Given the description of an element on the screen output the (x, y) to click on. 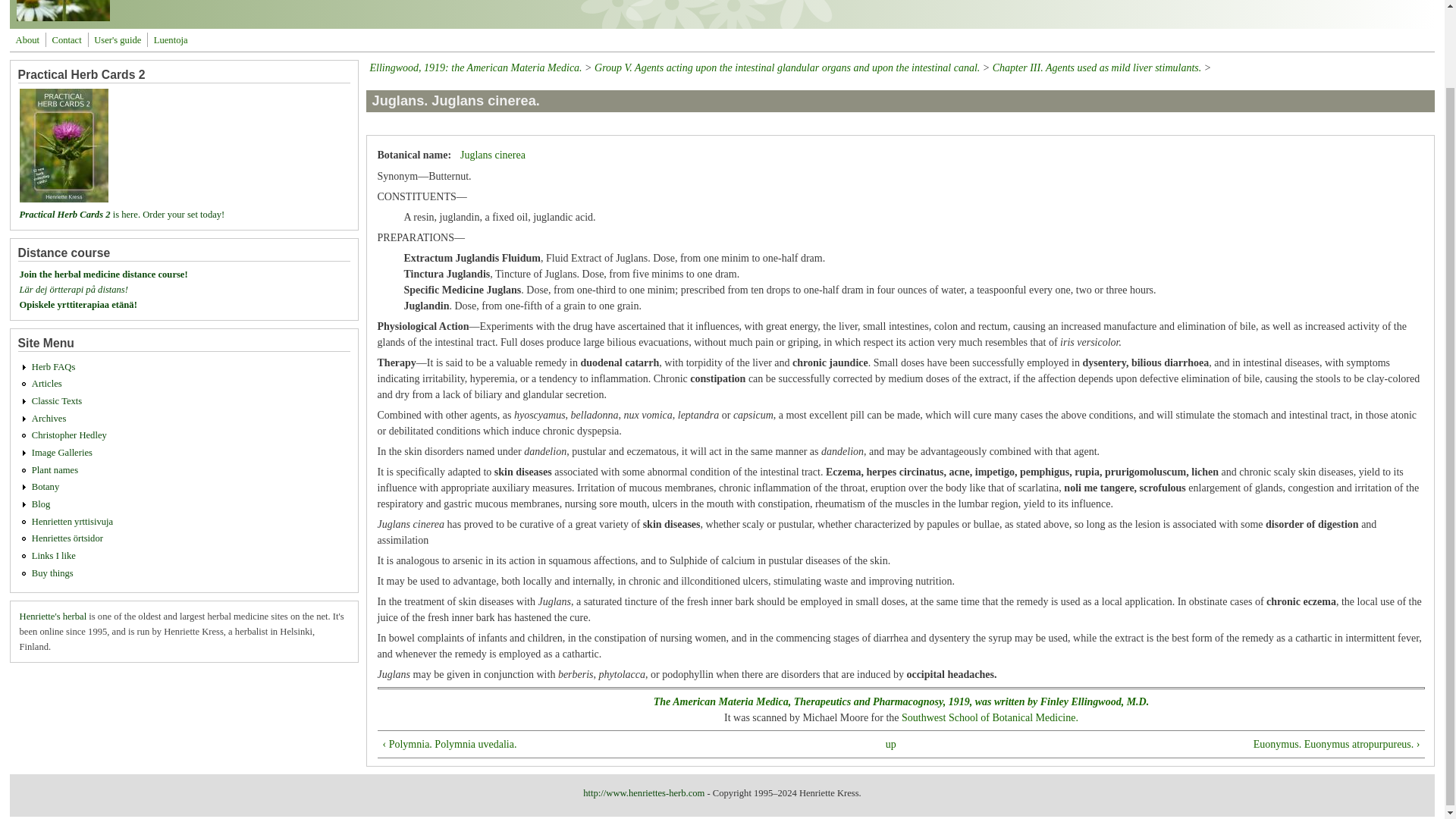
Suomenkielinen osa Henrietten yrttisivustosta. (72, 521)
Juglans cinerea (492, 154)
Remembering Christopher. (69, 434)
Botanical keys with photos by Jan De Langhe. (45, 486)
Go to parent page (890, 744)
Links I like (53, 555)
About (27, 39)
Chapter III. Agents used as mild liver stimulants. (1096, 67)
Image Galleries (62, 452)
Henriette's herbal (53, 615)
The culinary and medicinal herb FAQs. (53, 366)
Plant names (55, 470)
Archives (48, 418)
Botany (45, 486)
up (890, 744)
